Given the description of an element on the screen output the (x, y) to click on. 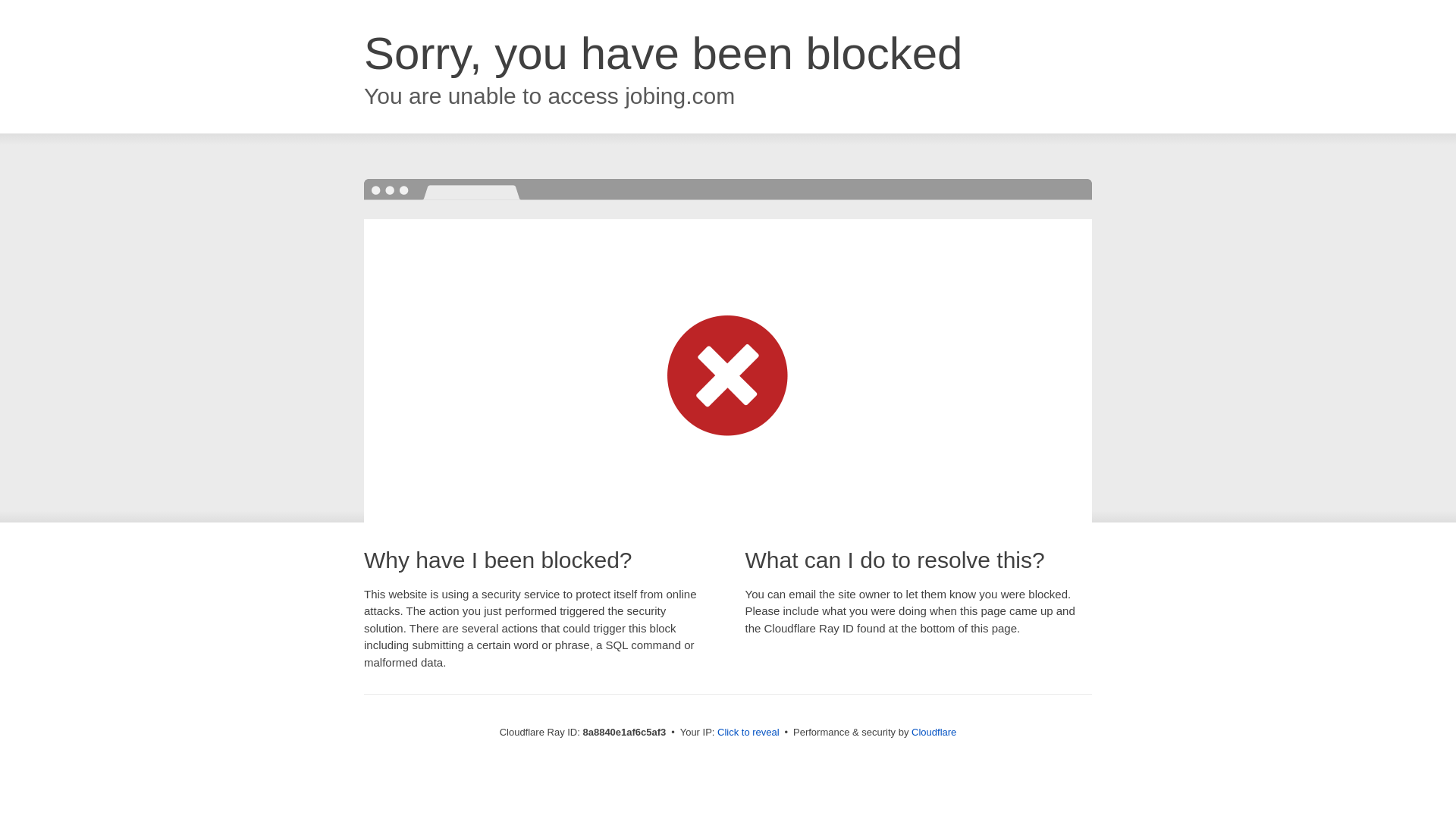
Click to reveal (747, 732)
Cloudflare (933, 731)
